Given the description of an element on the screen output the (x, y) to click on. 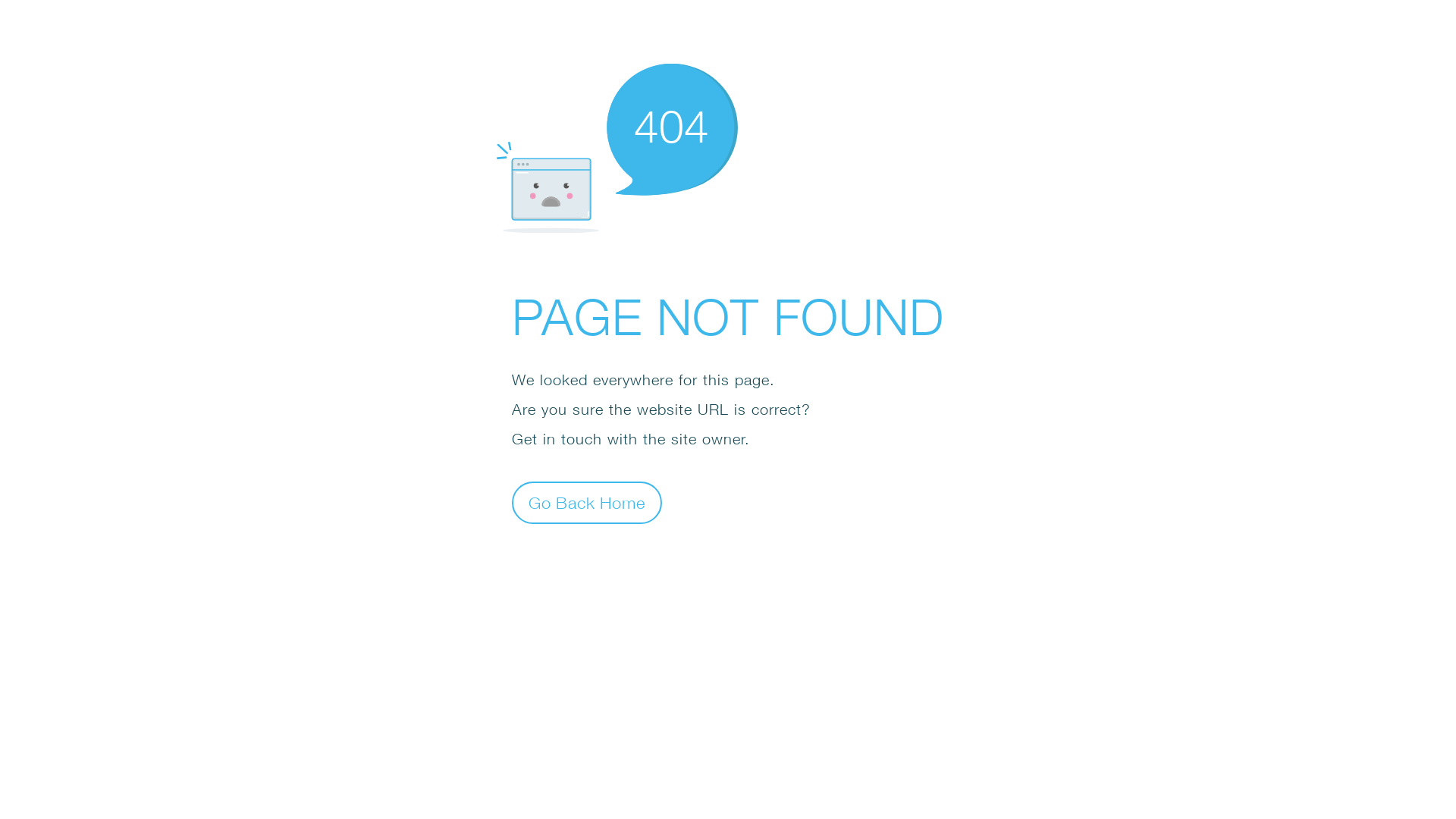
Go Back Home Element type: text (586, 502)
